Given the description of an element on the screen output the (x, y) to click on. 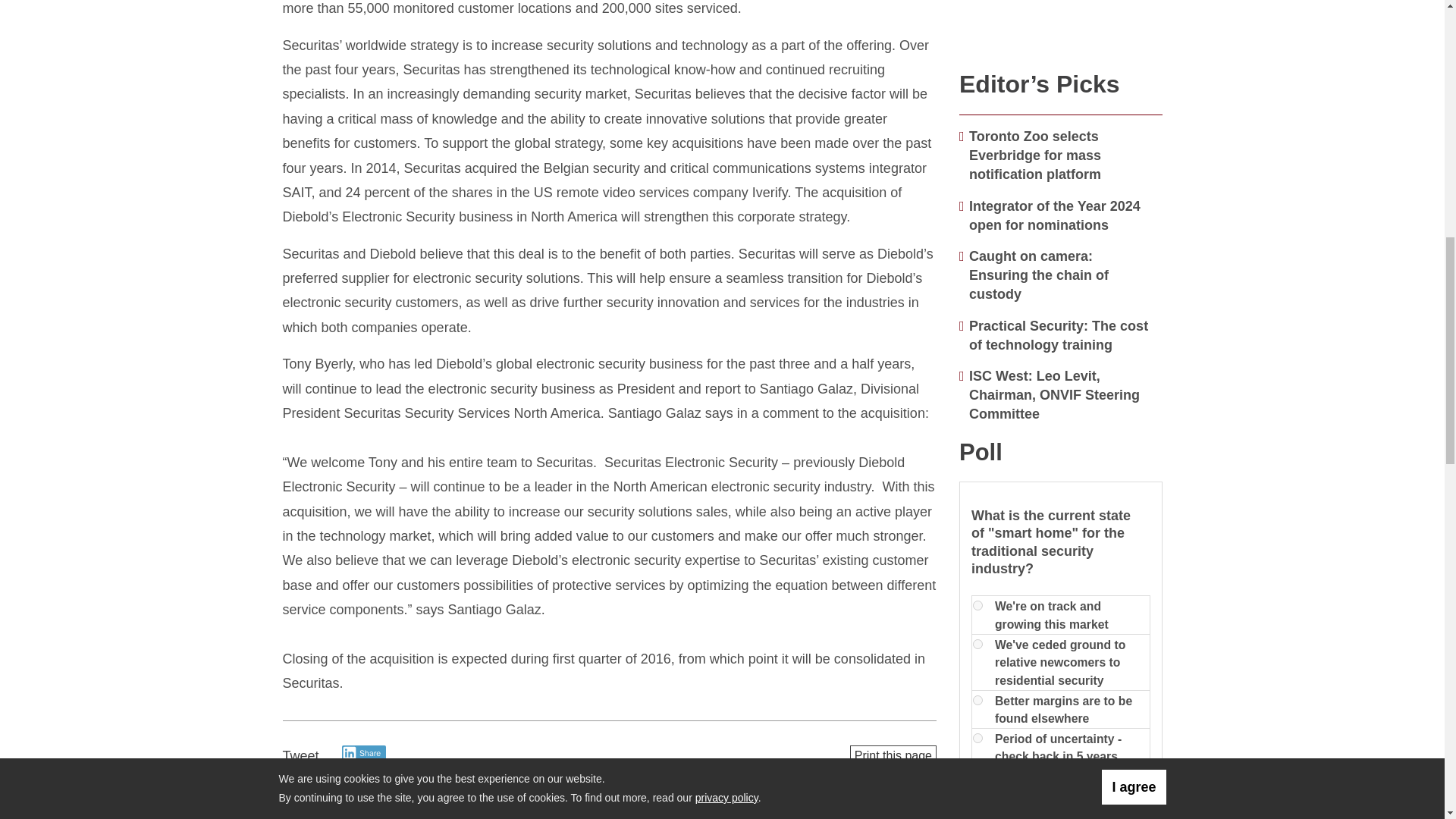
gpoll1ef286767 (977, 700)
Vote (994, 805)
gpoll16eca7826 (977, 644)
gpoll184b400fc (977, 737)
gpoll156cbdbc4 (977, 605)
3rd party ad content (1060, 27)
